Given the description of an element on the screen output the (x, y) to click on. 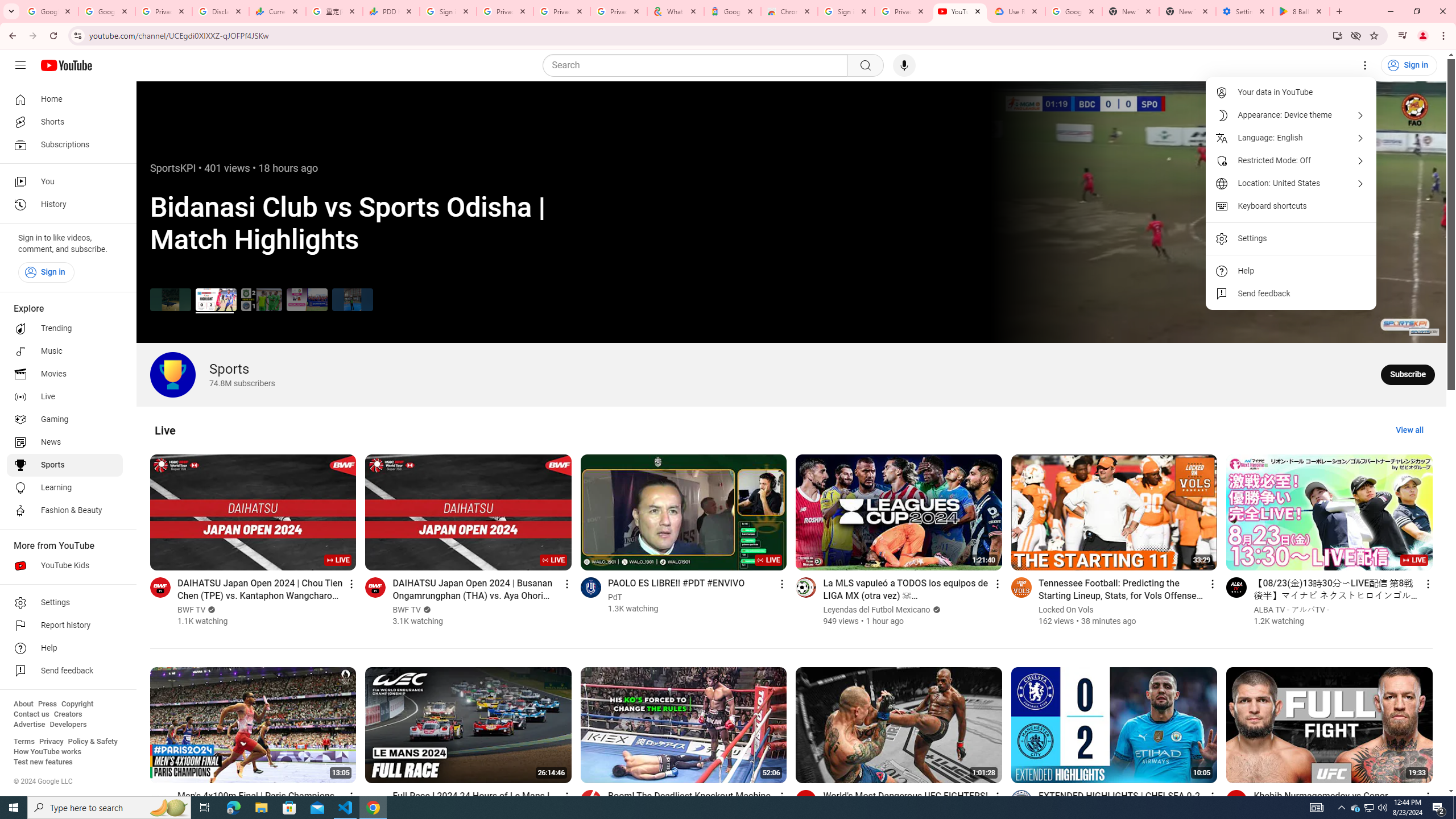
Live (165, 430)
Privacy Checkup (561, 11)
Search (865, 65)
Chrome Web Store - Color themes by Chrome (788, 11)
History (64, 204)
Developers (68, 724)
Sports 74.8 million subscribers (212, 374)
Music (64, 350)
Keyboard shortcuts (1291, 205)
Sports (64, 464)
Sign in - Google Accounts (845, 11)
